Given the description of an element on the screen output the (x, y) to click on. 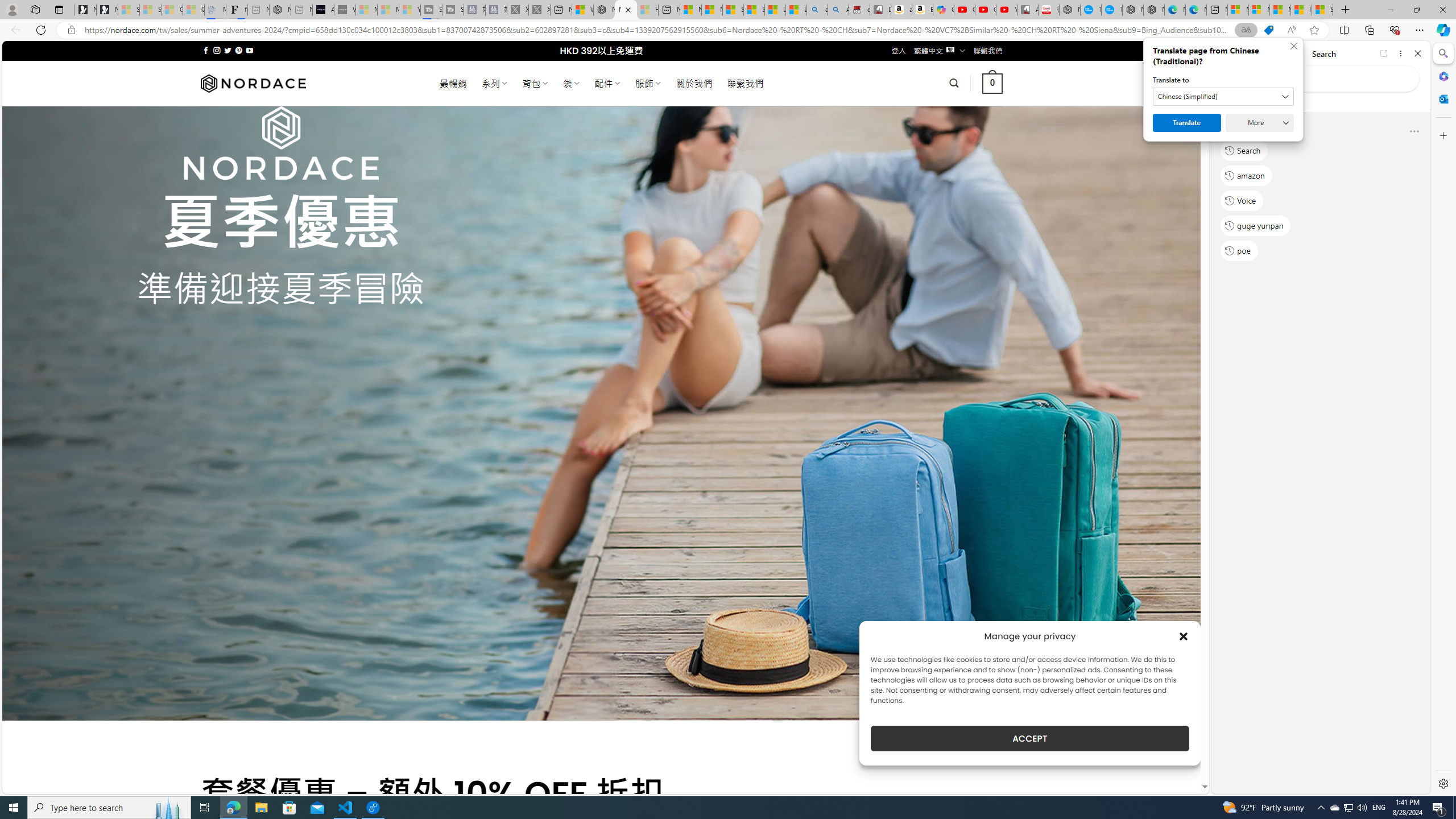
Follow on Pinterest (237, 50)
amazon.in/dp/B0CX59H5W7/?tag=gsmcom05-21 (901, 9)
Search the web (1326, 78)
What's the best AI voice generator? - voice.ai - Sleeping (345, 9)
This site scope (1259, 102)
Class: cmplz-close (1183, 636)
